Given the description of an element on the screen output the (x, y) to click on. 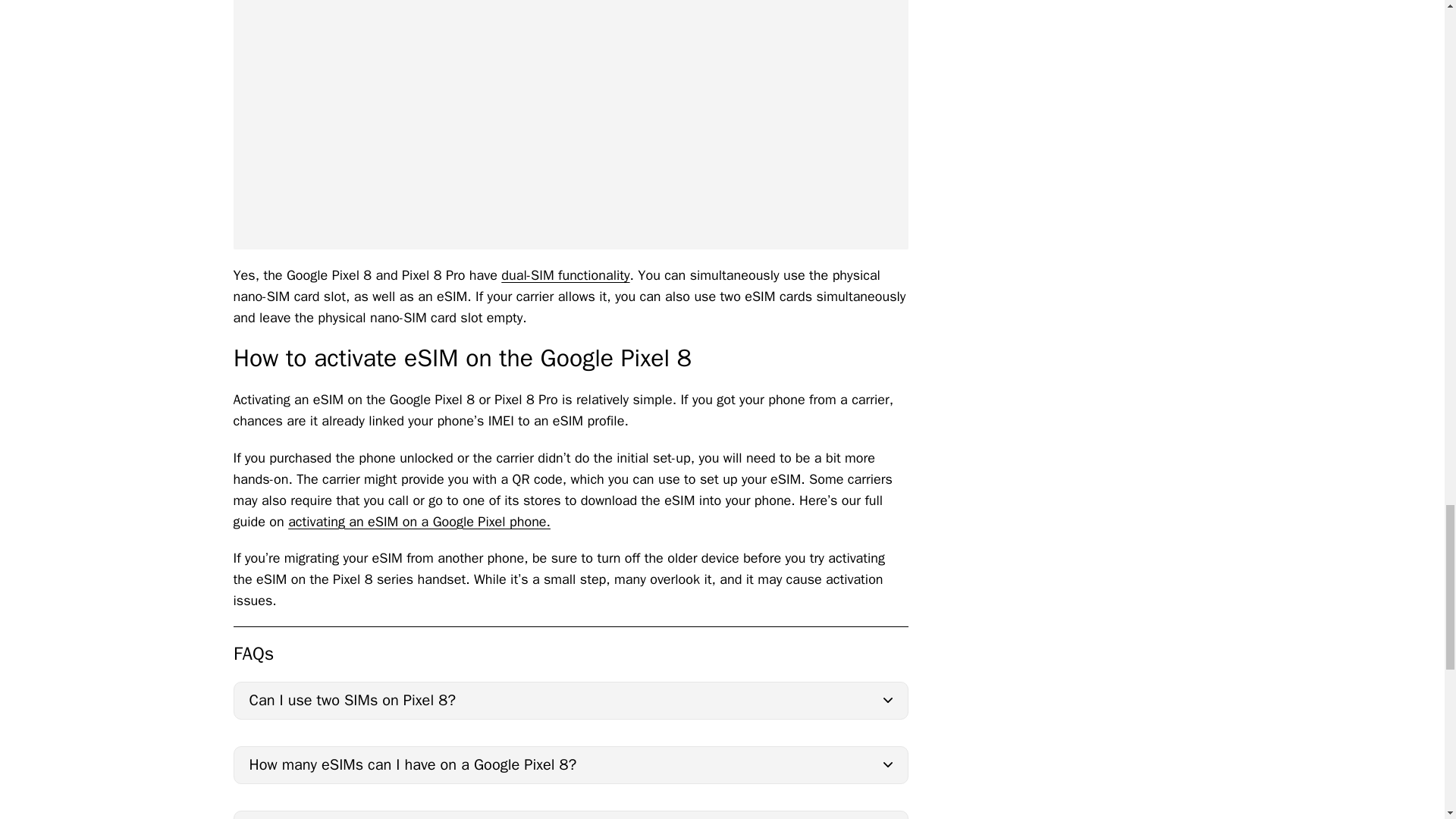
dual-SIM functionality (564, 274)
Can I use two SIMs on Pixel 8? (570, 700)
How many eSIMs can I have on a Google Pixel 8? (570, 764)
Can I transfer my eSIM from an iPhone to a Pixel 8? (570, 814)
activating an eSIM on a Google Pixel phone. (419, 521)
